Given the description of an element on the screen output the (x, y) to click on. 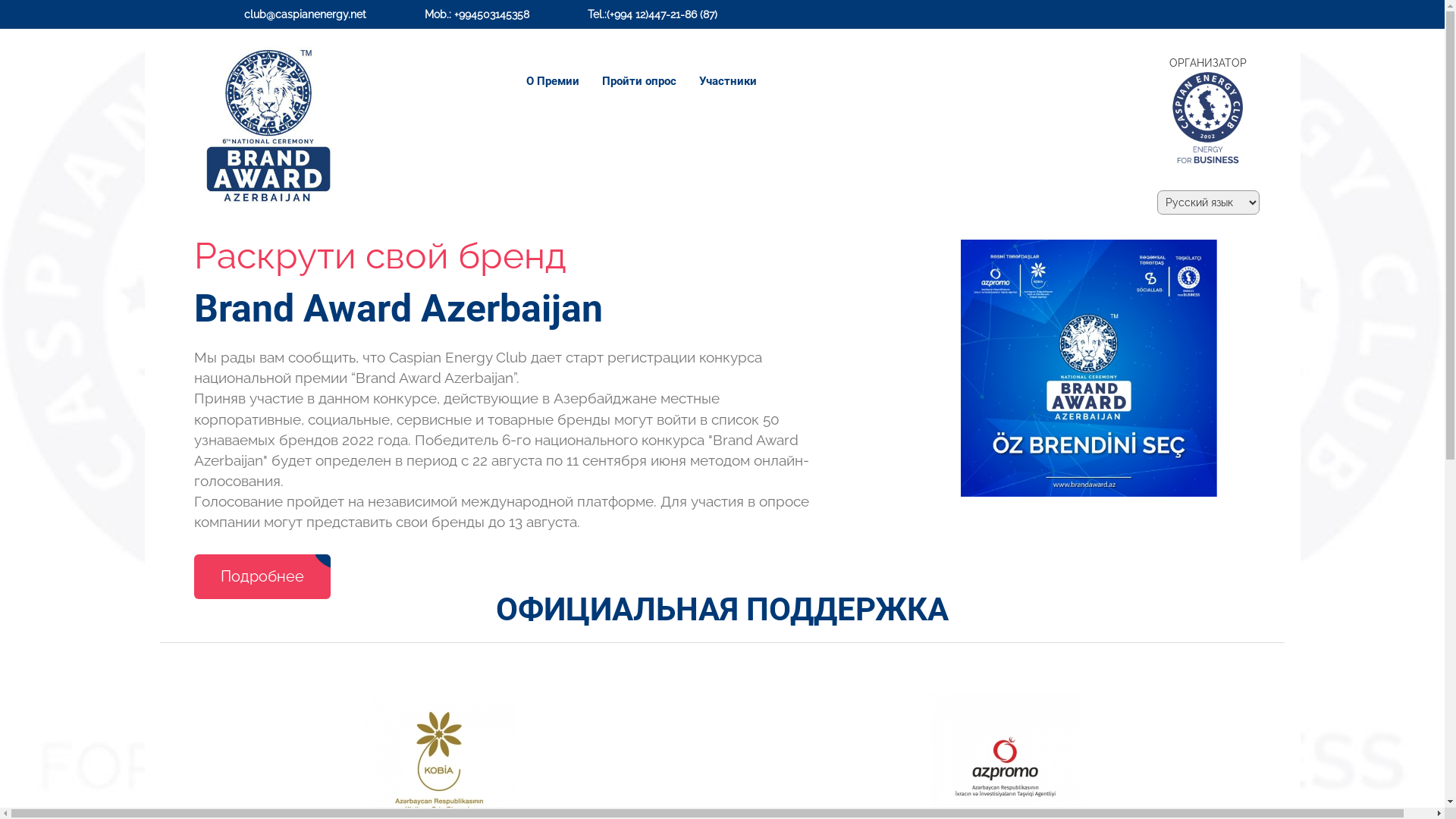
Tel.:(+994 12)447-21-86 (87) Element type: text (649, 14)
Azpromo Element type: hover (1005, 765)
BRANDAWARD-TR-BANNER Element type: hover (1088, 367)
BRANDAWARD-TR-BANNER Element type: hover (1088, 367)
club@caspianenergy.net Element type: text (300, 14)
Mob.: +994503145358 Element type: text (472, 14)
CASPIAN ENERGY CLUB Element type: hover (1208, 117)
